Given the description of an element on the screen output the (x, y) to click on. 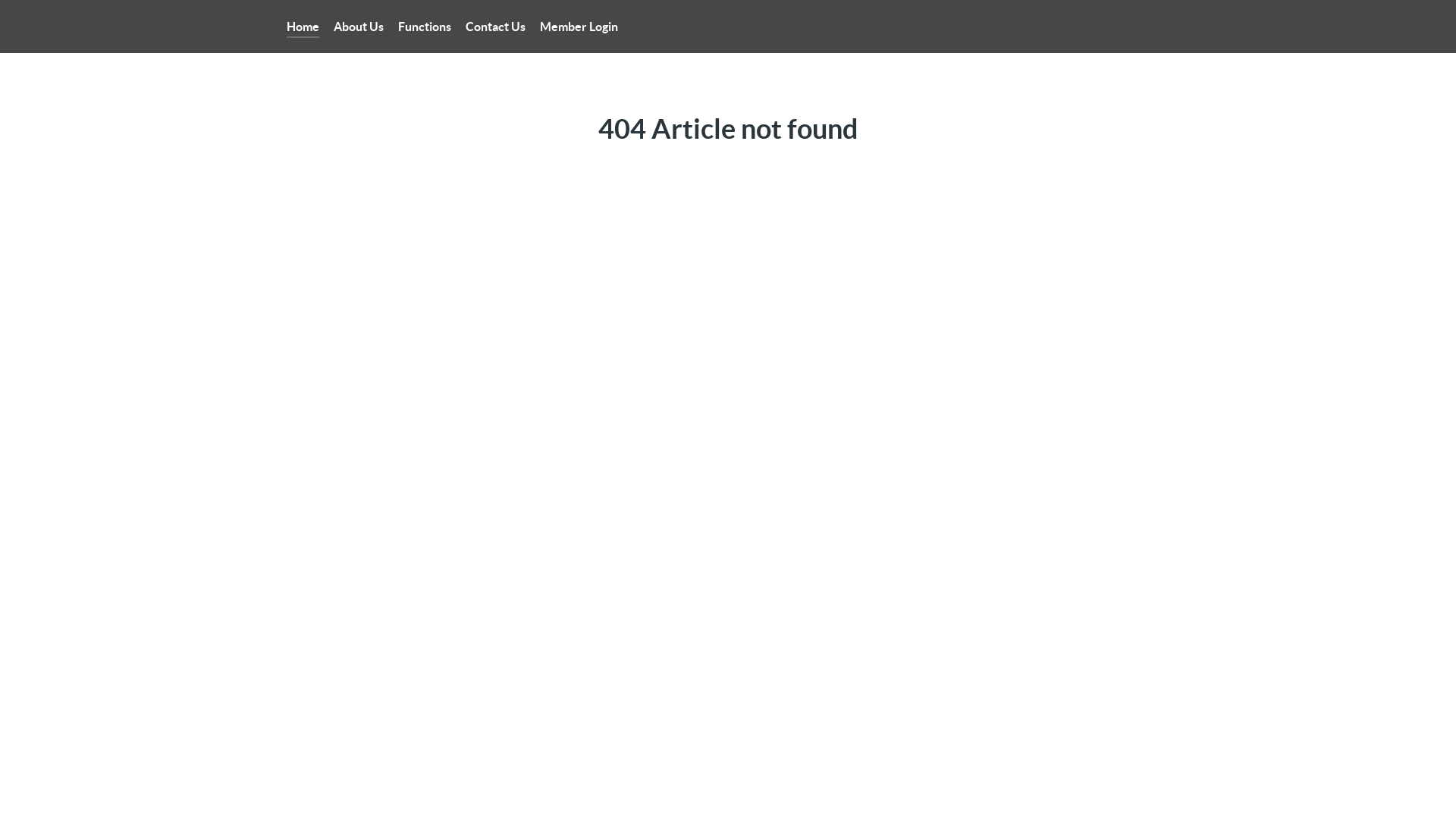
Functions Element type: text (424, 27)
Home Element type: text (302, 27)
Contact Us Element type: text (495, 27)
About Us Element type: text (358, 27)
Member Login Element type: text (578, 27)
